Given the description of an element on the screen output the (x, y) to click on. 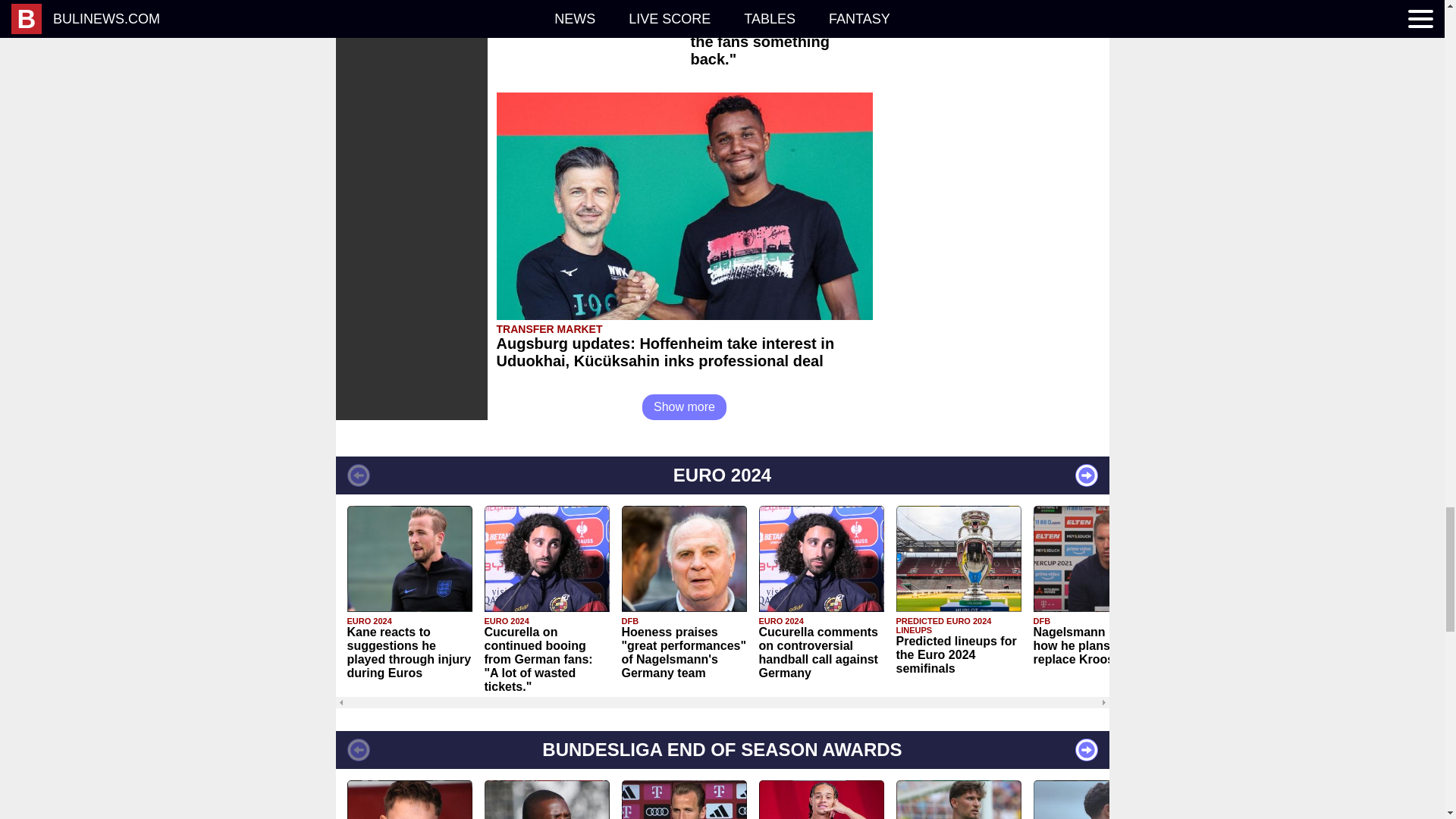
BUNDESLIGA END OF SEASON AWARDS (721, 750)
EURO 2024 (721, 475)
